Given the description of an element on the screen output the (x, y) to click on. 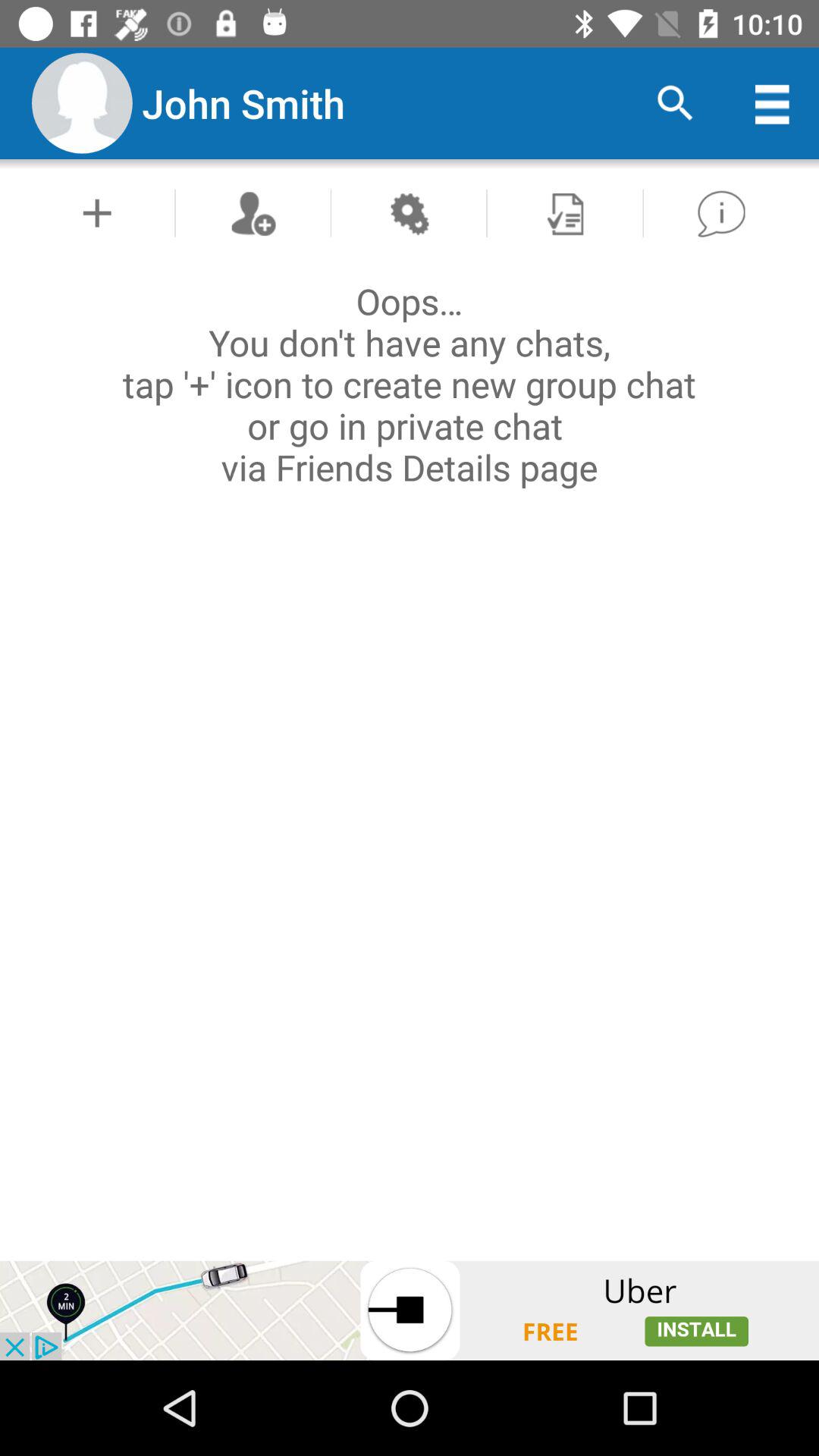
add new chat (252, 213)
